Given the description of an element on the screen output the (x, y) to click on. 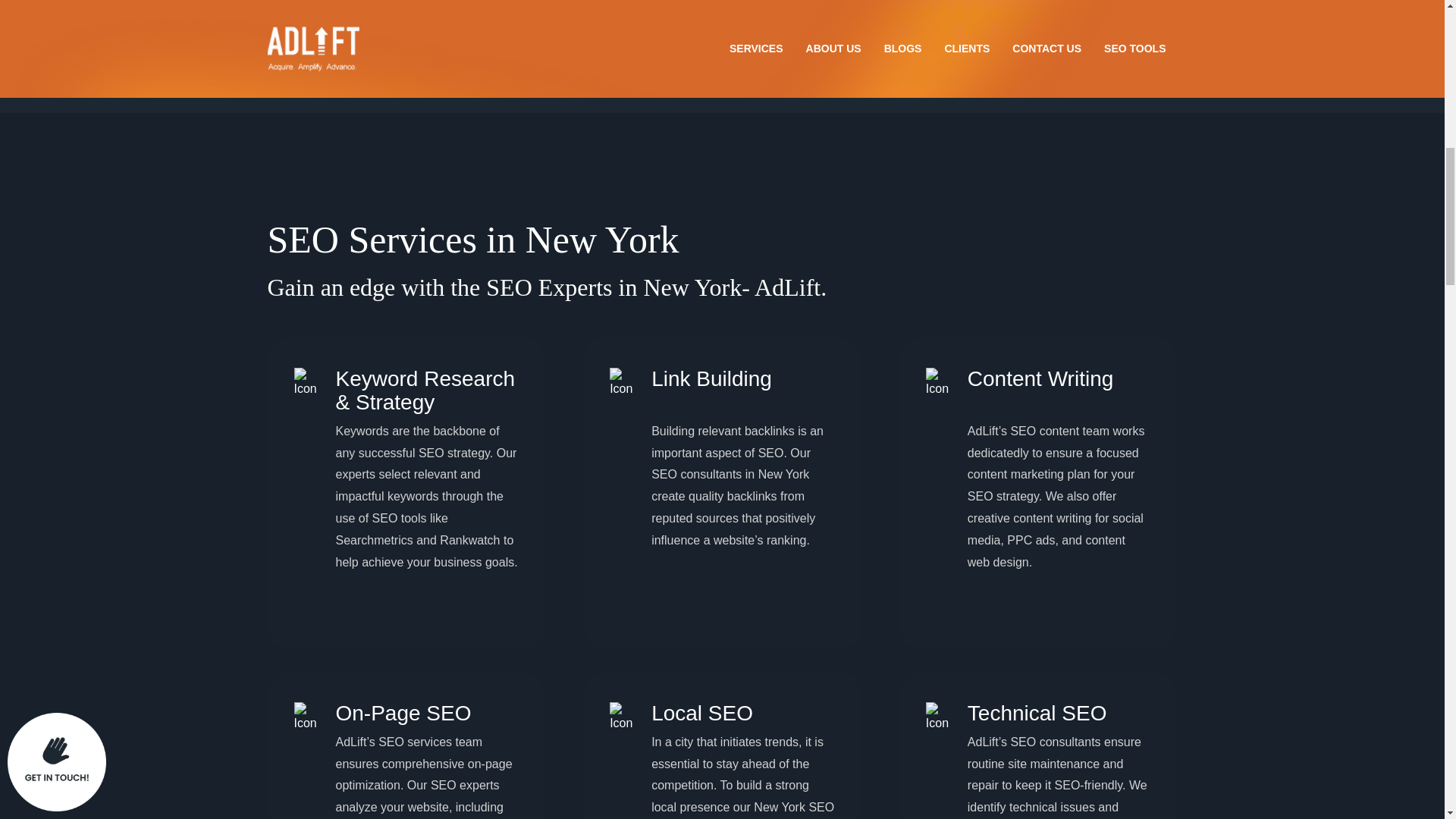
GET IN TOUCH (721, 18)
